Given the description of an element on the screen output the (x, y) to click on. 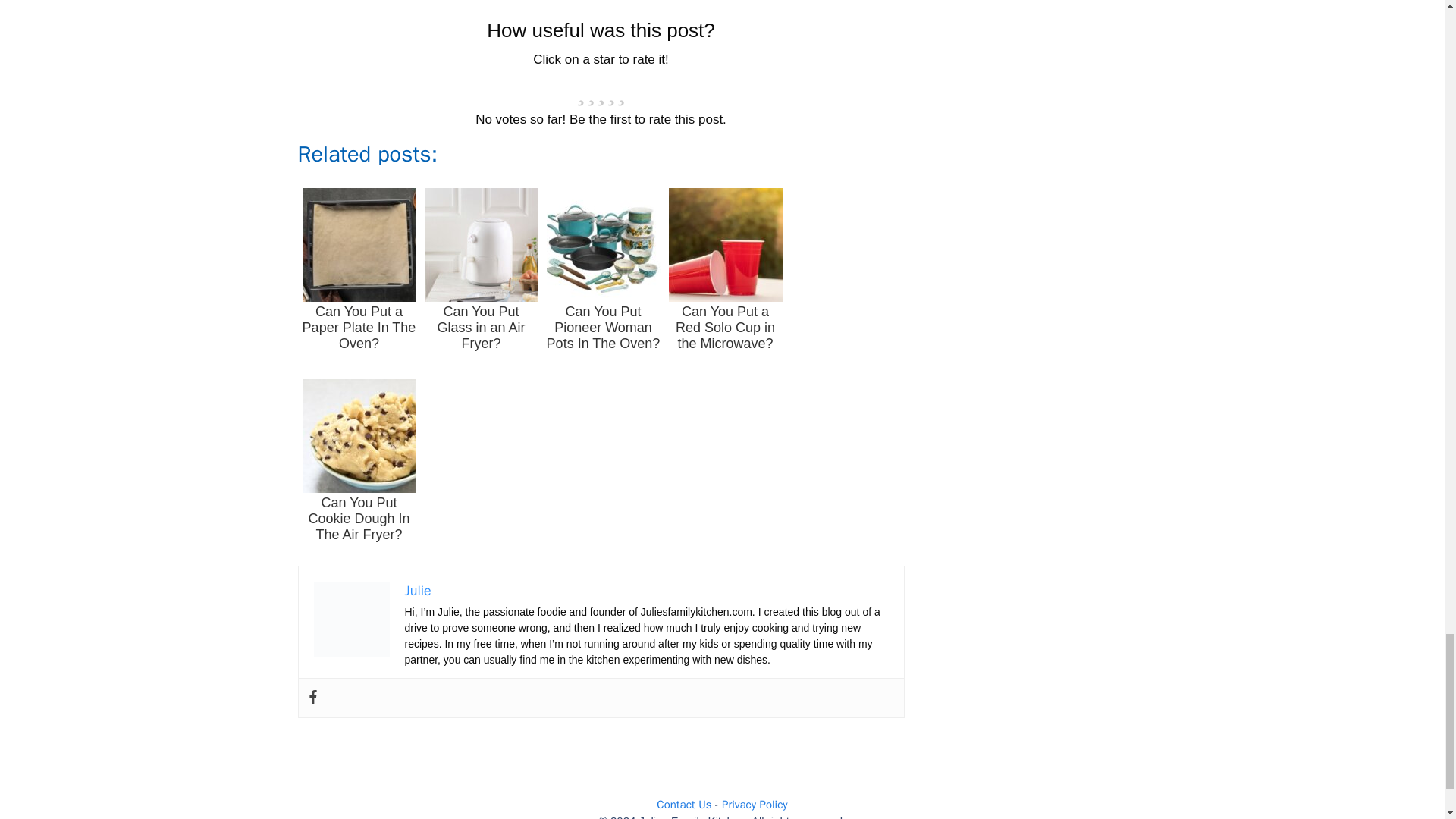
Julie (417, 590)
